Given the description of an element on the screen output the (x, y) to click on. 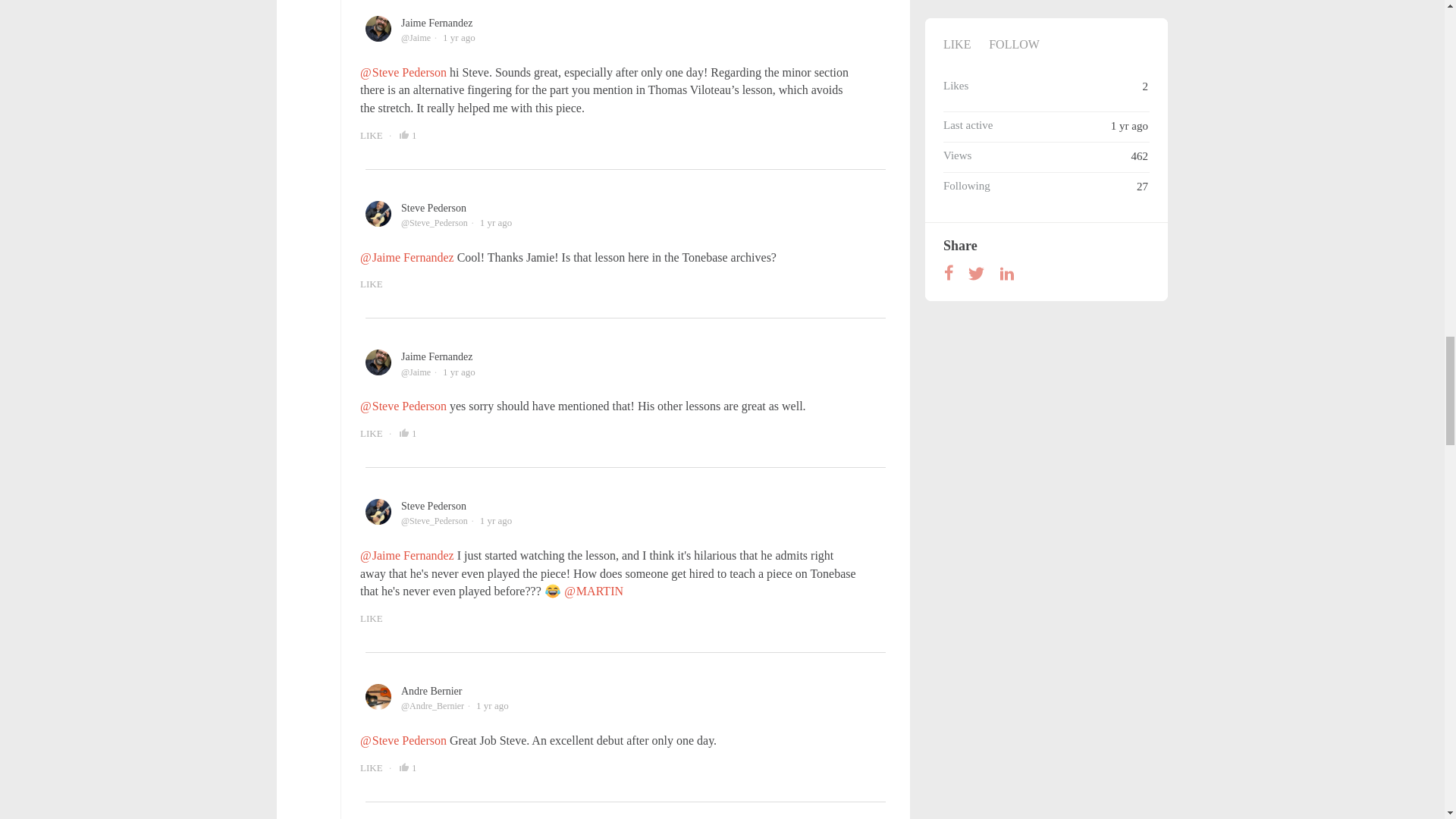
Steve Pederson (433, 207)
Jaime Fernandez (436, 22)
Jaime Fernandez (436, 356)
